Given the description of an element on the screen output the (x, y) to click on. 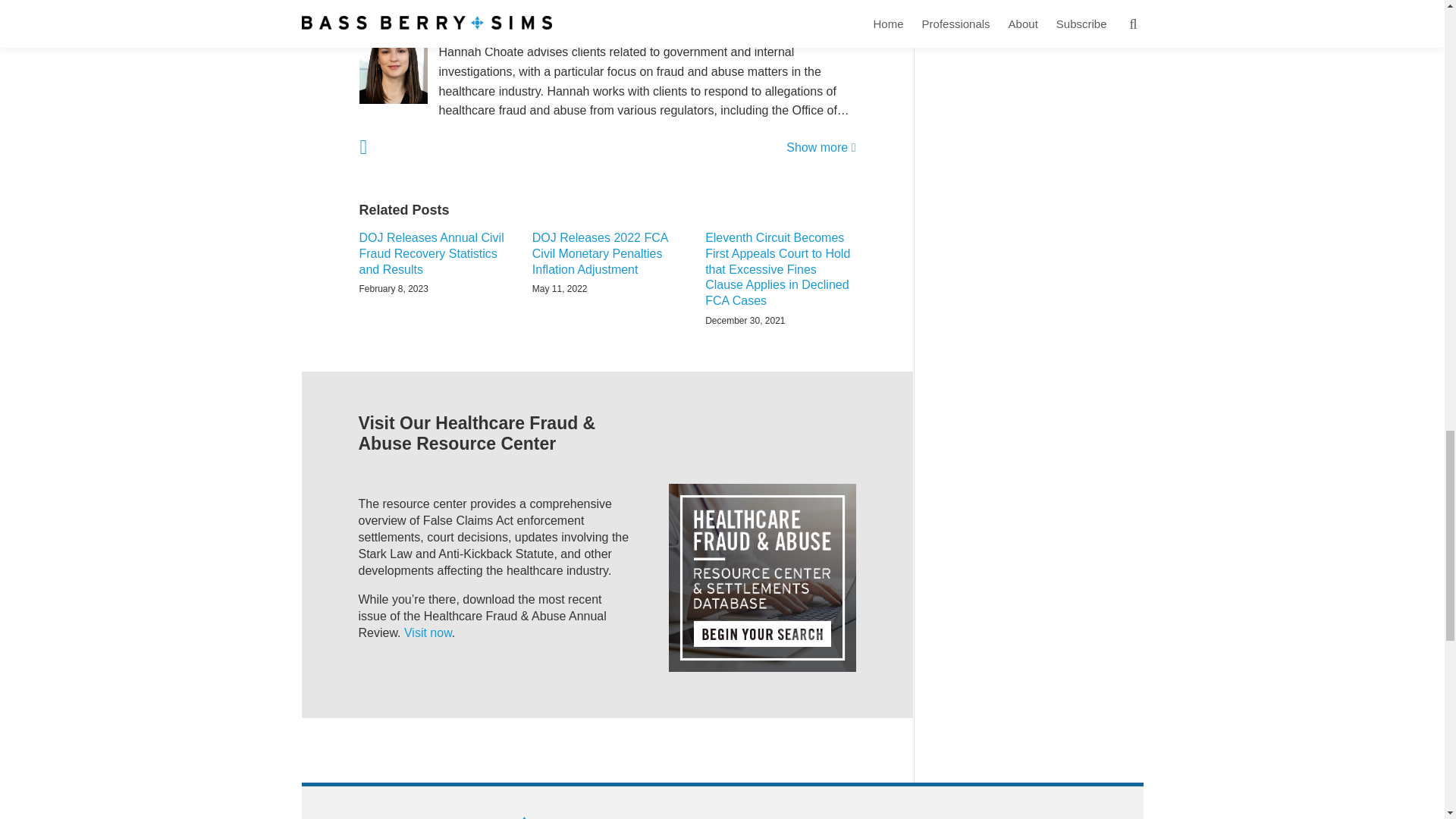
Hannah Choate (607, 33)
Show more (821, 146)
Visit now (427, 632)
